Given the description of an element on the screen output the (x, y) to click on. 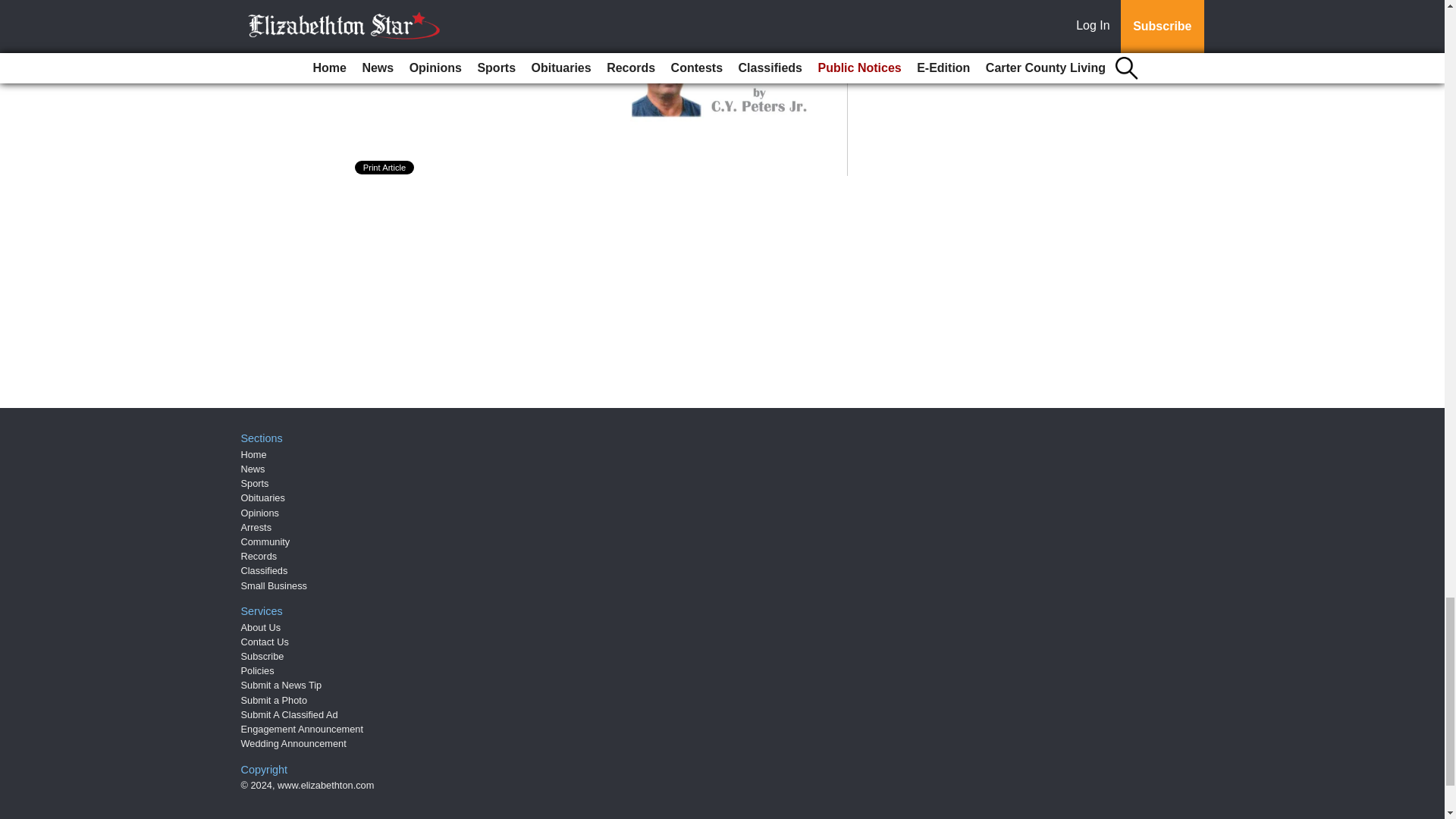
Print Article (384, 167)
